Given the description of an element on the screen output the (x, y) to click on. 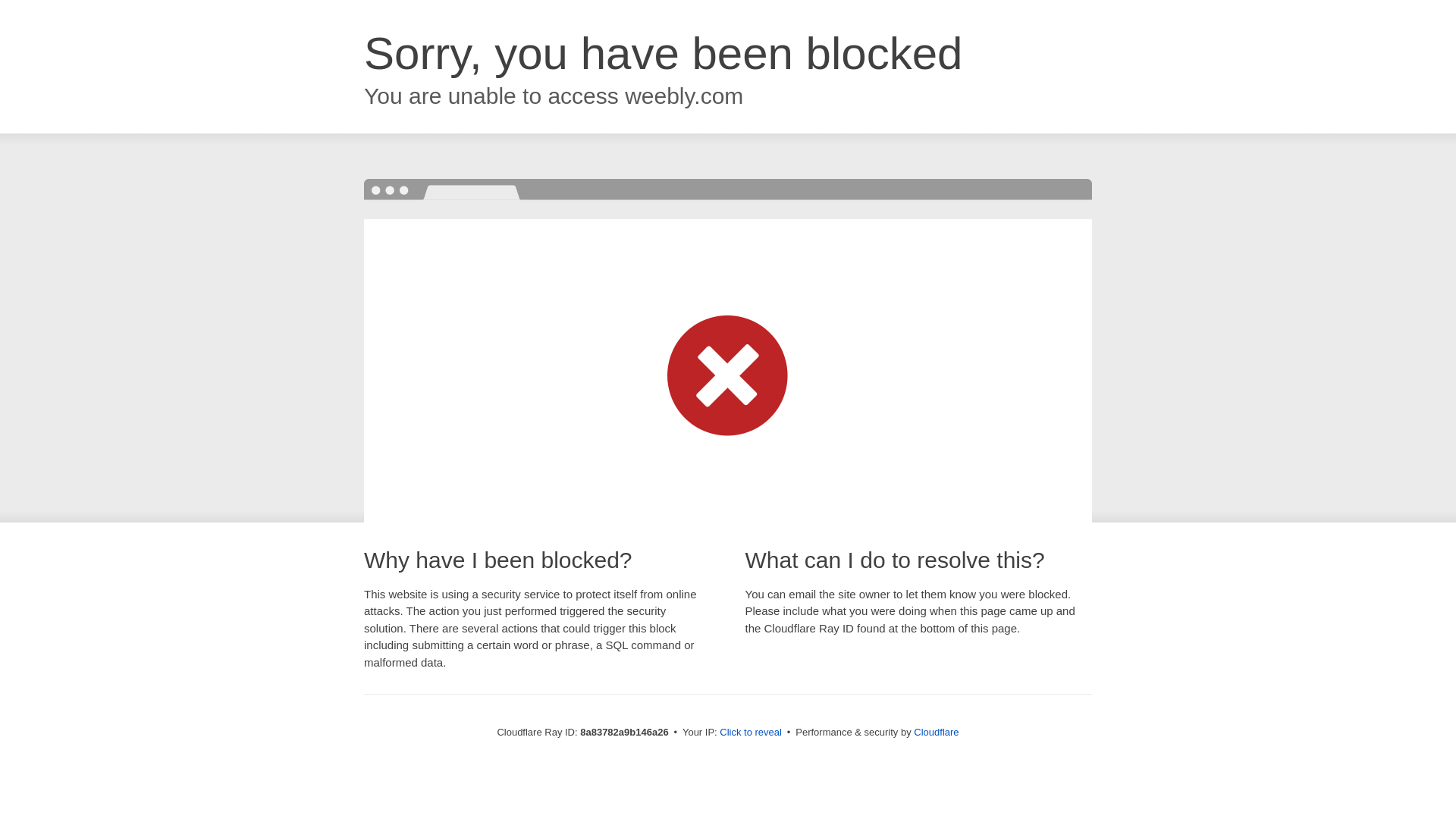
Click to reveal (750, 732)
Cloudflare (936, 731)
